Given the description of an element on the screen output the (x, y) to click on. 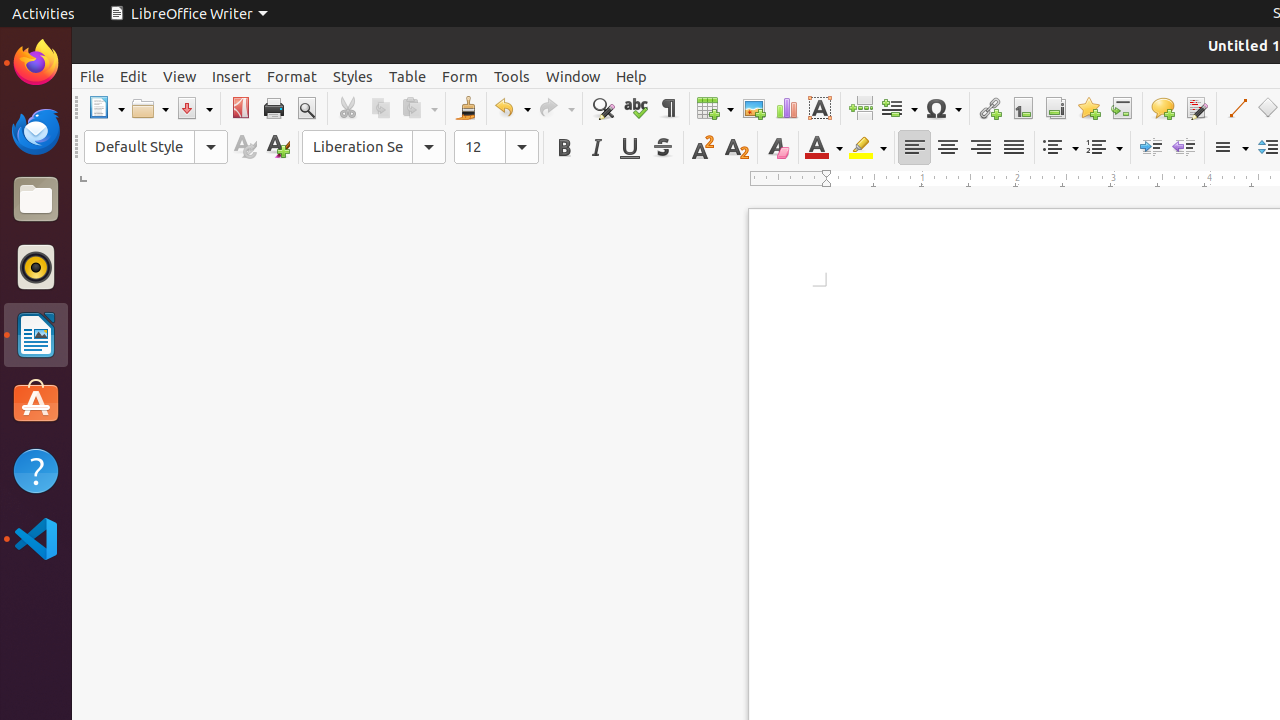
Font Name Element type: combo-box (374, 147)
View Element type: menu (179, 76)
Find & Replace Element type: toggle-button (602, 108)
Hyperlink Element type: toggle-button (989, 108)
Undo Element type: push-button (512, 108)
